Given the description of an element on the screen output the (x, y) to click on. 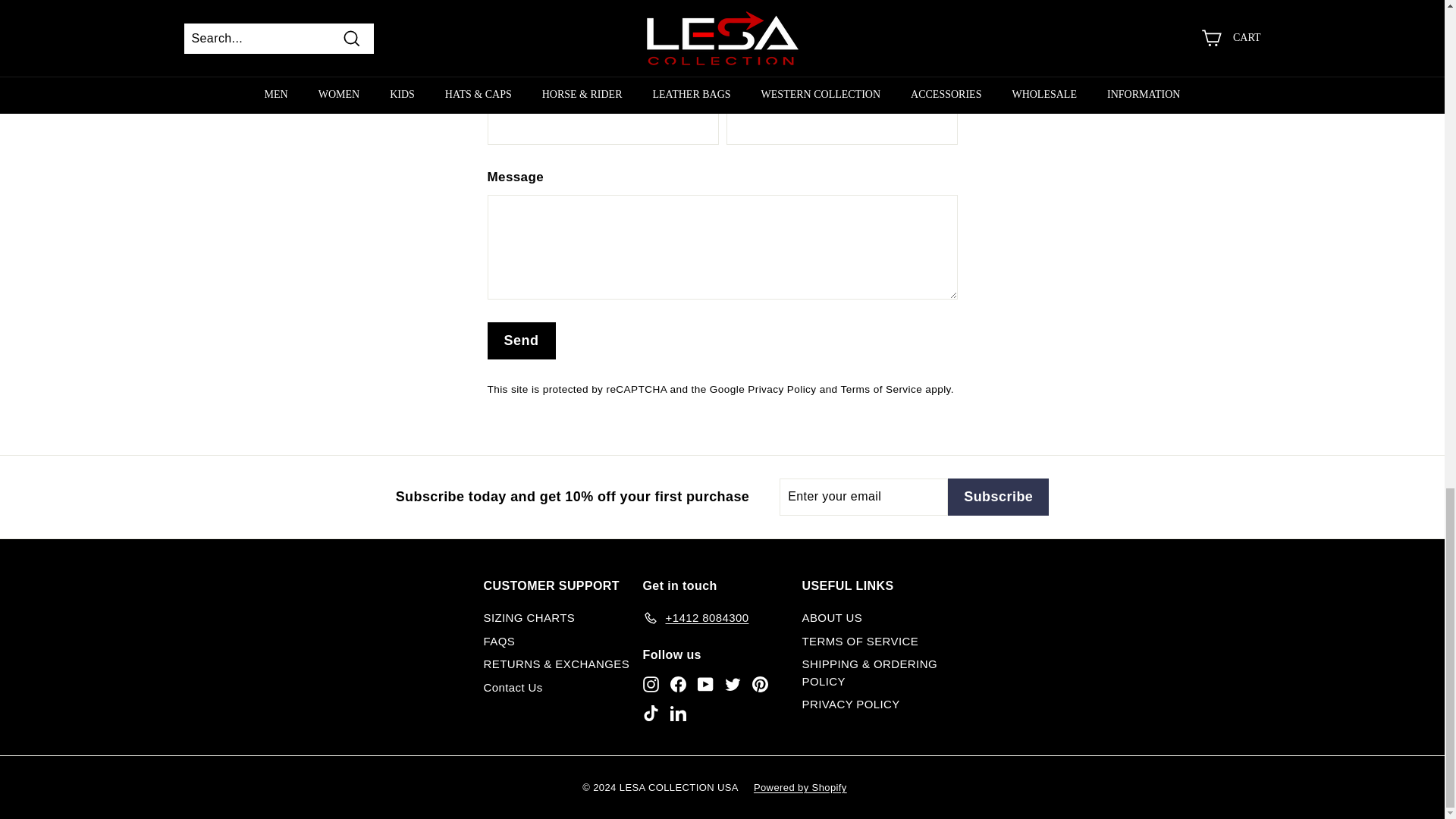
LESA COLLECTION USA  on TikTok (651, 712)
LESA COLLECTION USA  on YouTube (705, 683)
LESA COLLECTION USA  on Twitter (733, 683)
LESA COLLECTION USA  on Facebook (677, 683)
LESA COLLECTION USA  on Pinterest (760, 683)
LESA COLLECTION USA  on Instagram (651, 683)
LESA COLLECTION USA  on LinkedIn (677, 712)
